Given the description of an element on the screen output the (x, y) to click on. 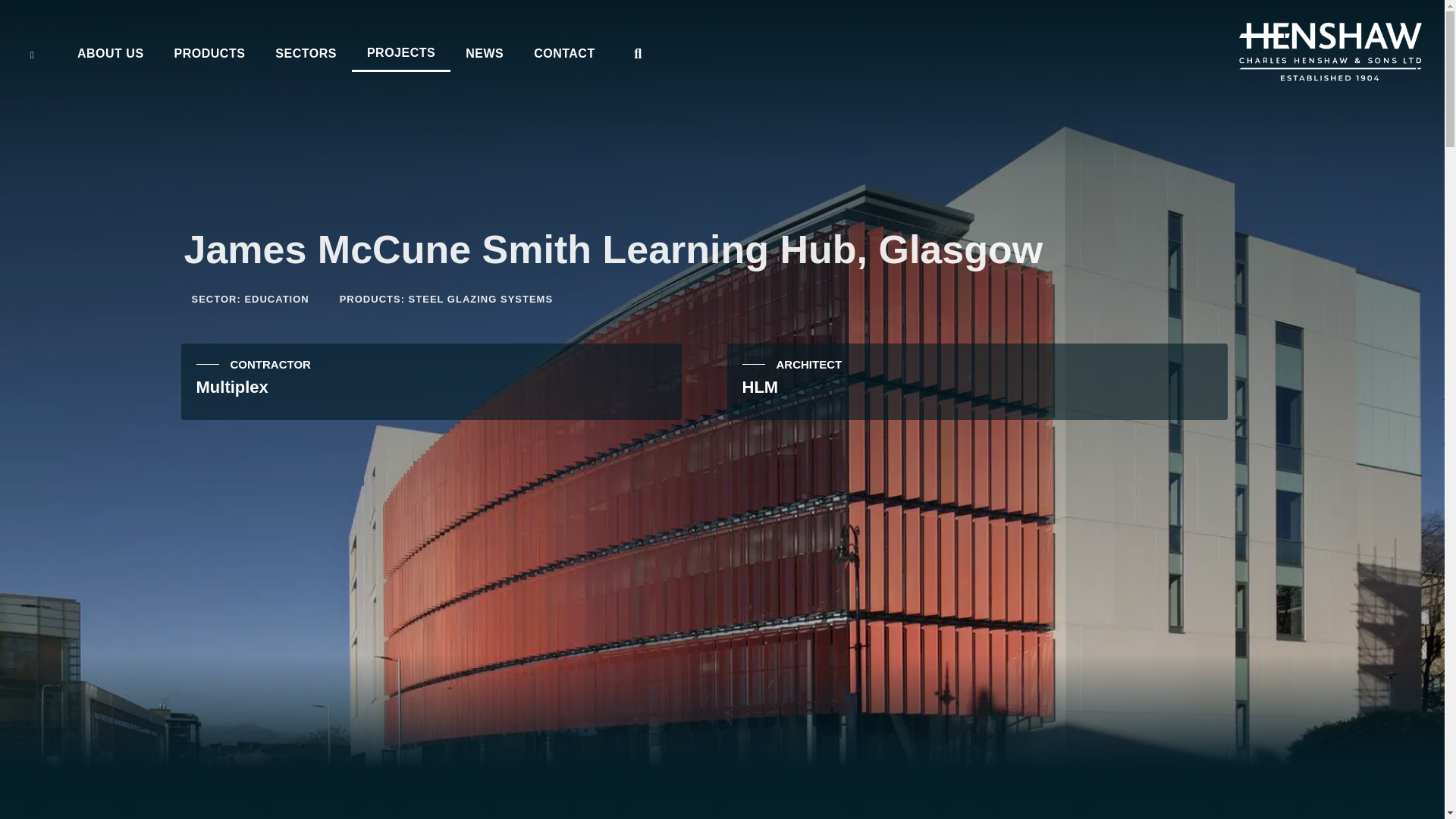
NEWS (483, 54)
PROJECTS (400, 52)
ABOUT US (110, 54)
HOME (46, 54)
SECTORS (306, 54)
CONTACT (564, 54)
PRODUCTS (209, 54)
